Given the description of an element on the screen output the (x, y) to click on. 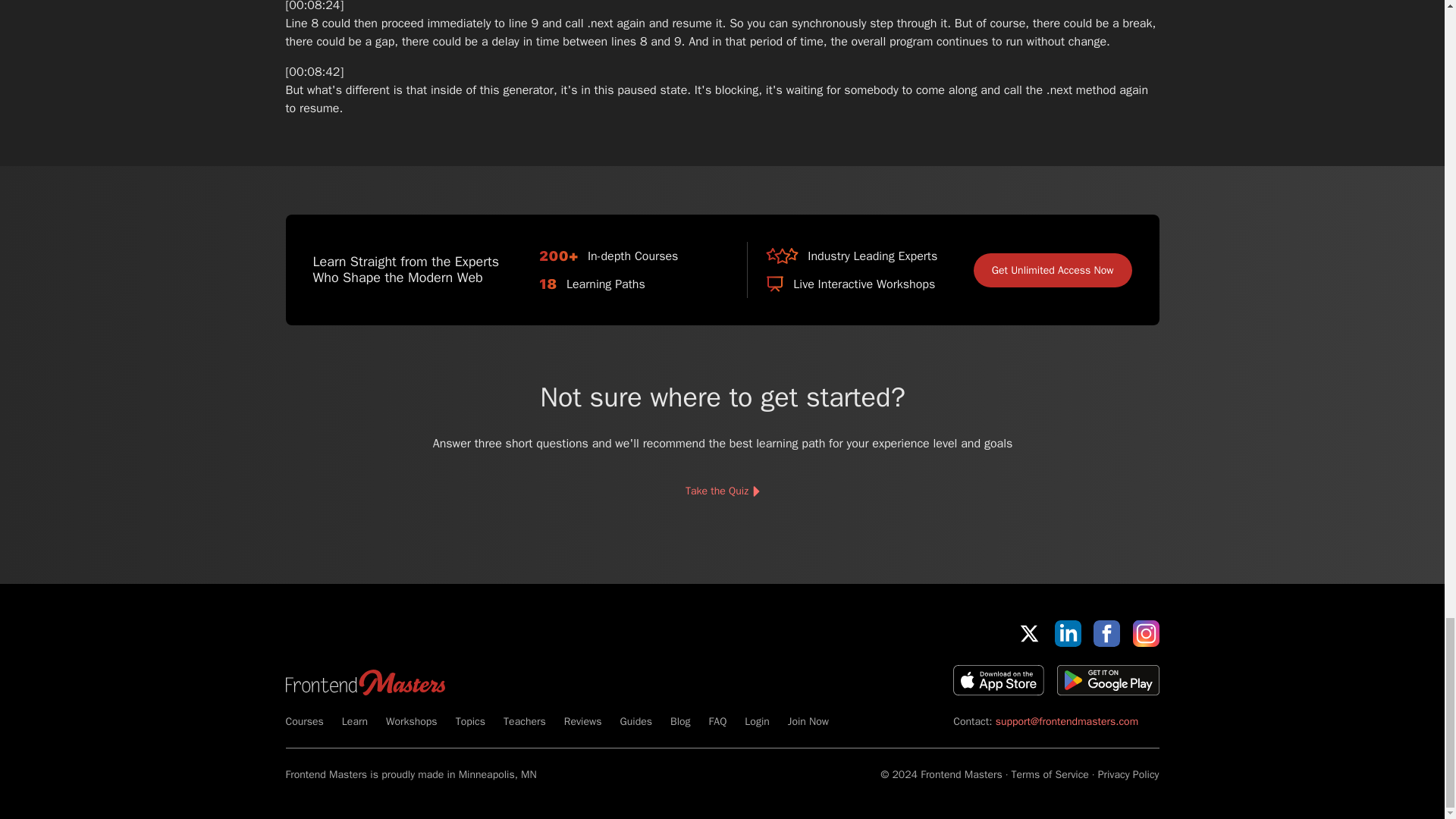
Learn (355, 721)
Workshops (411, 721)
Facebook (1106, 633)
Blog (679, 721)
LinkedIn (1067, 633)
Take the Quiz (720, 490)
Join Now (807, 721)
Reviews (583, 721)
Guides (636, 721)
FrontendMasters (364, 682)
